Given the description of an element on the screen output the (x, y) to click on. 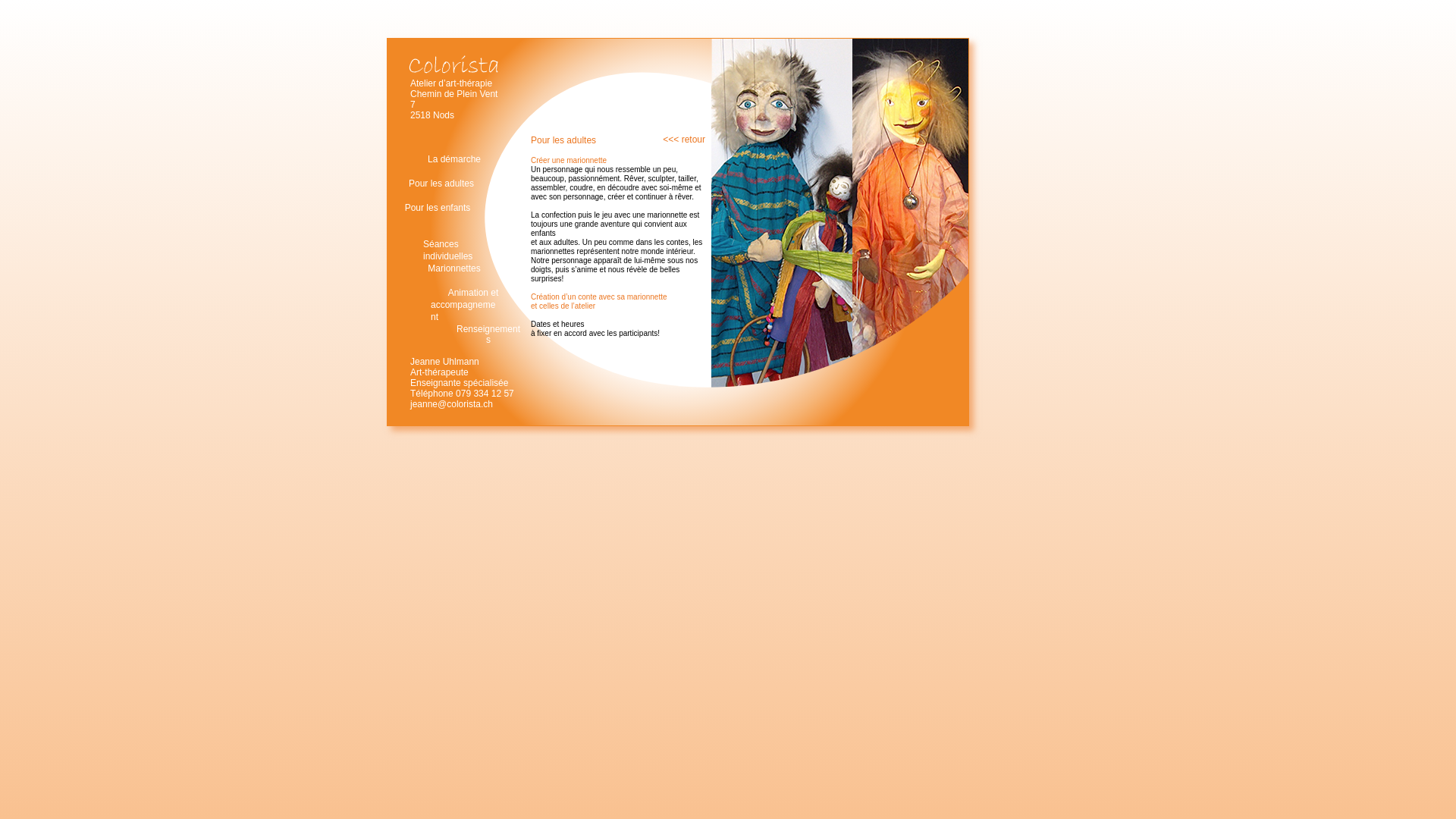
Marionnettes Element type: text (454, 269)
Renseignements Element type: text (488, 334)
Pour les adultes Element type: text (441, 184)
       Animation et
accompagnement Element type: text (465, 304)
<<< retour Element type: text (671, 140)
Pour les enfants Element type: text (437, 208)
